Given the description of an element on the screen output the (x, y) to click on. 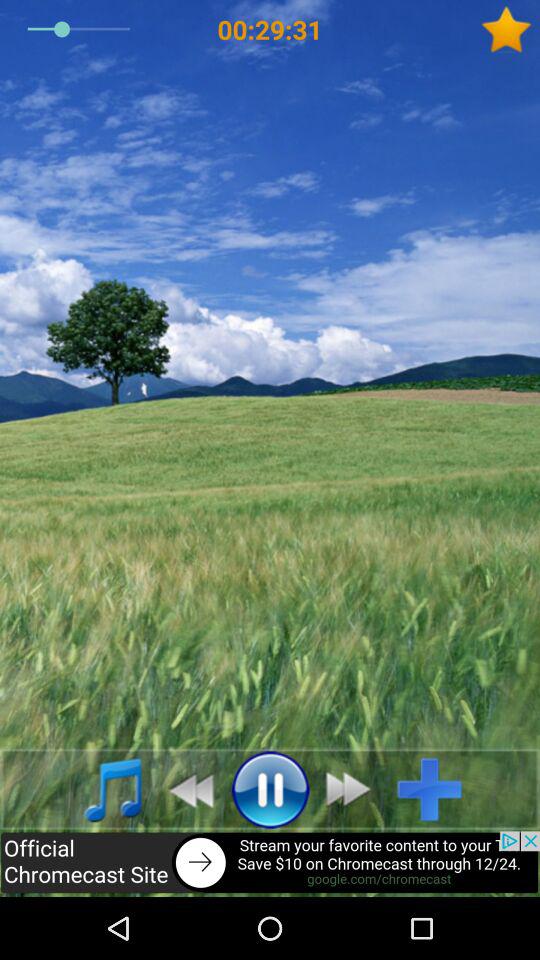
reverse (186, 789)
